Given the description of an element on the screen output the (x, y) to click on. 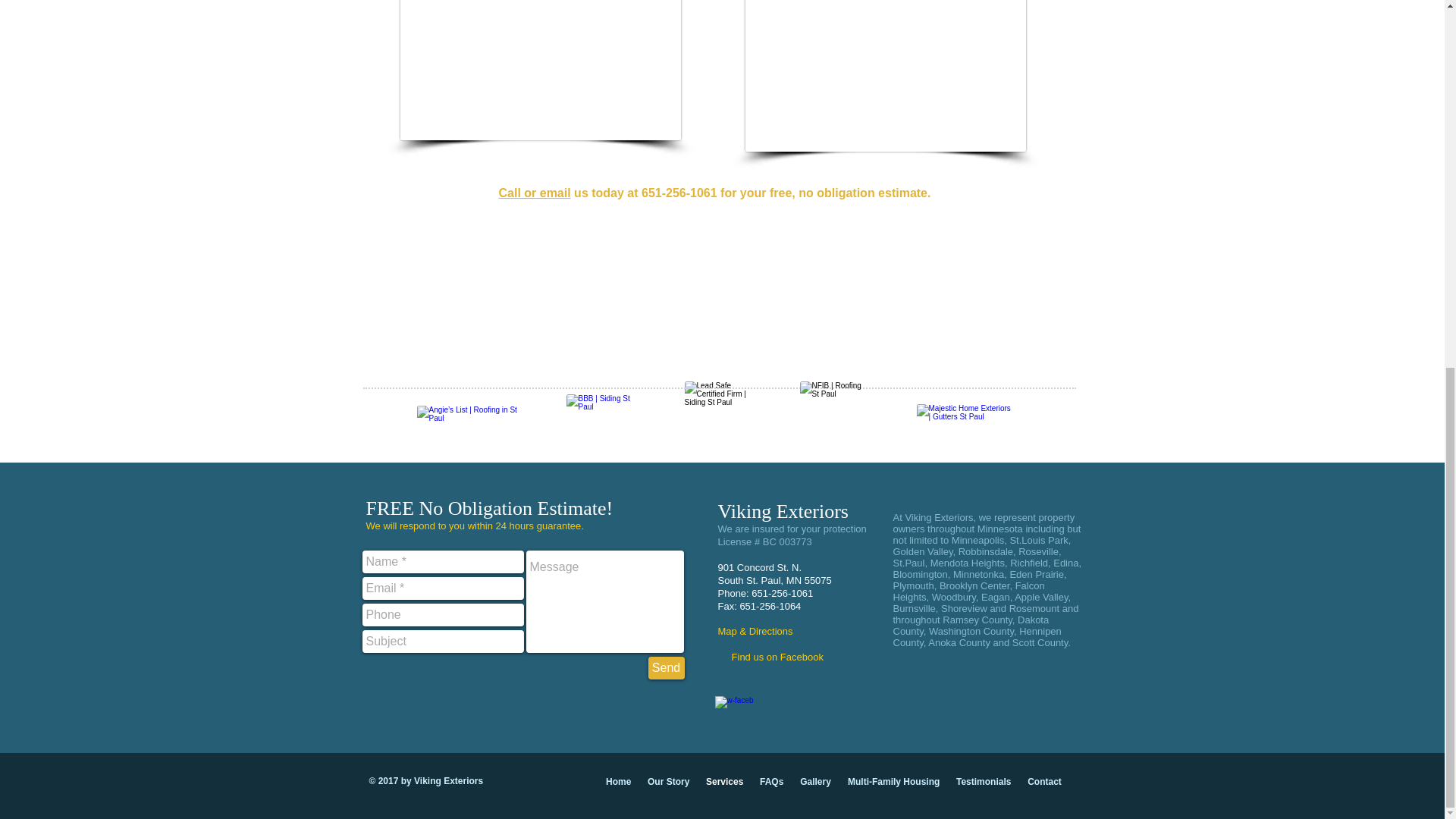
Gallery (816, 782)
Contact (1044, 782)
FAQs (771, 782)
Services (724, 782)
Testimonials (983, 782)
Send (665, 667)
Multi-Family Housing (893, 782)
Call or email (534, 192)
Our Story (668, 782)
Home (617, 782)
